Given the description of an element on the screen output the (x, y) to click on. 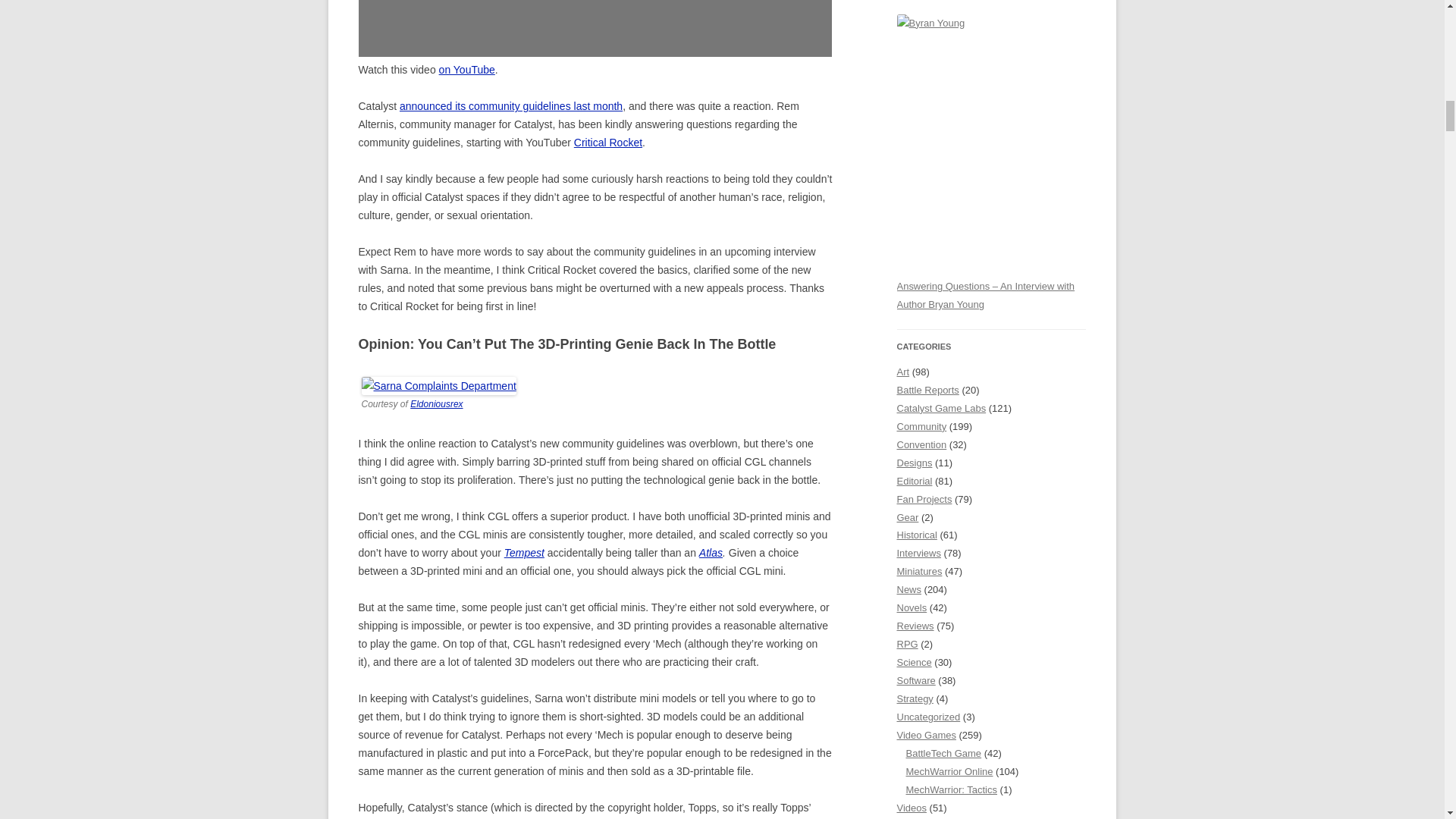
announced its community guidelines last month (510, 105)
Eldoniousrex (436, 403)
Catalyst Game Labs - Rem Alternis interview (594, 28)
Critical Rocket (607, 142)
Tempest (523, 552)
Atlas (710, 552)
on YouTube (467, 69)
